Given the description of an element on the screen output the (x, y) to click on. 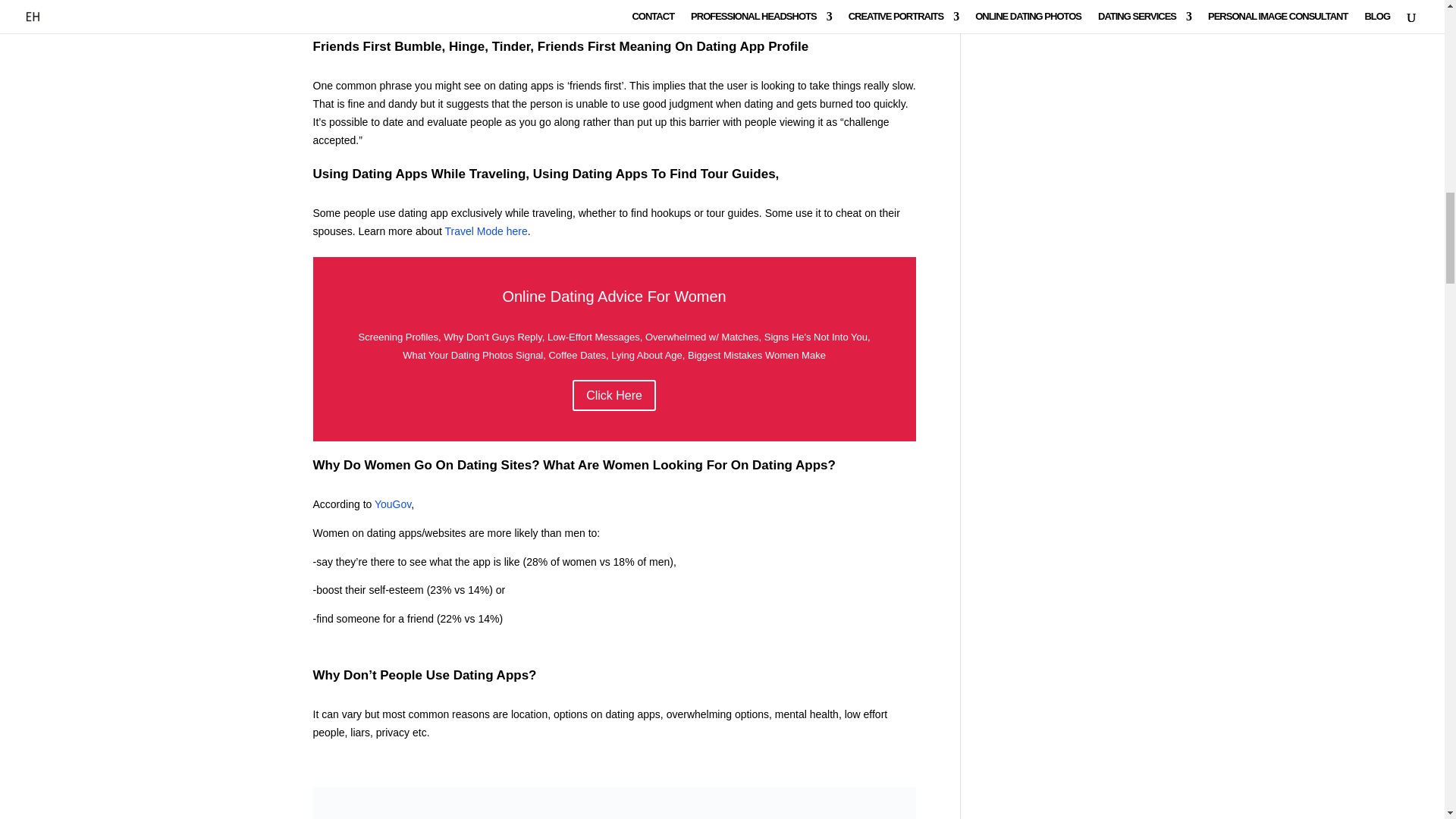
YouGov (392, 503)
Travel Mode here (486, 231)
Bumble-Bio-Example-Female-02 (614, 803)
Click Here (614, 395)
